Given the description of an element on the screen output the (x, y) to click on. 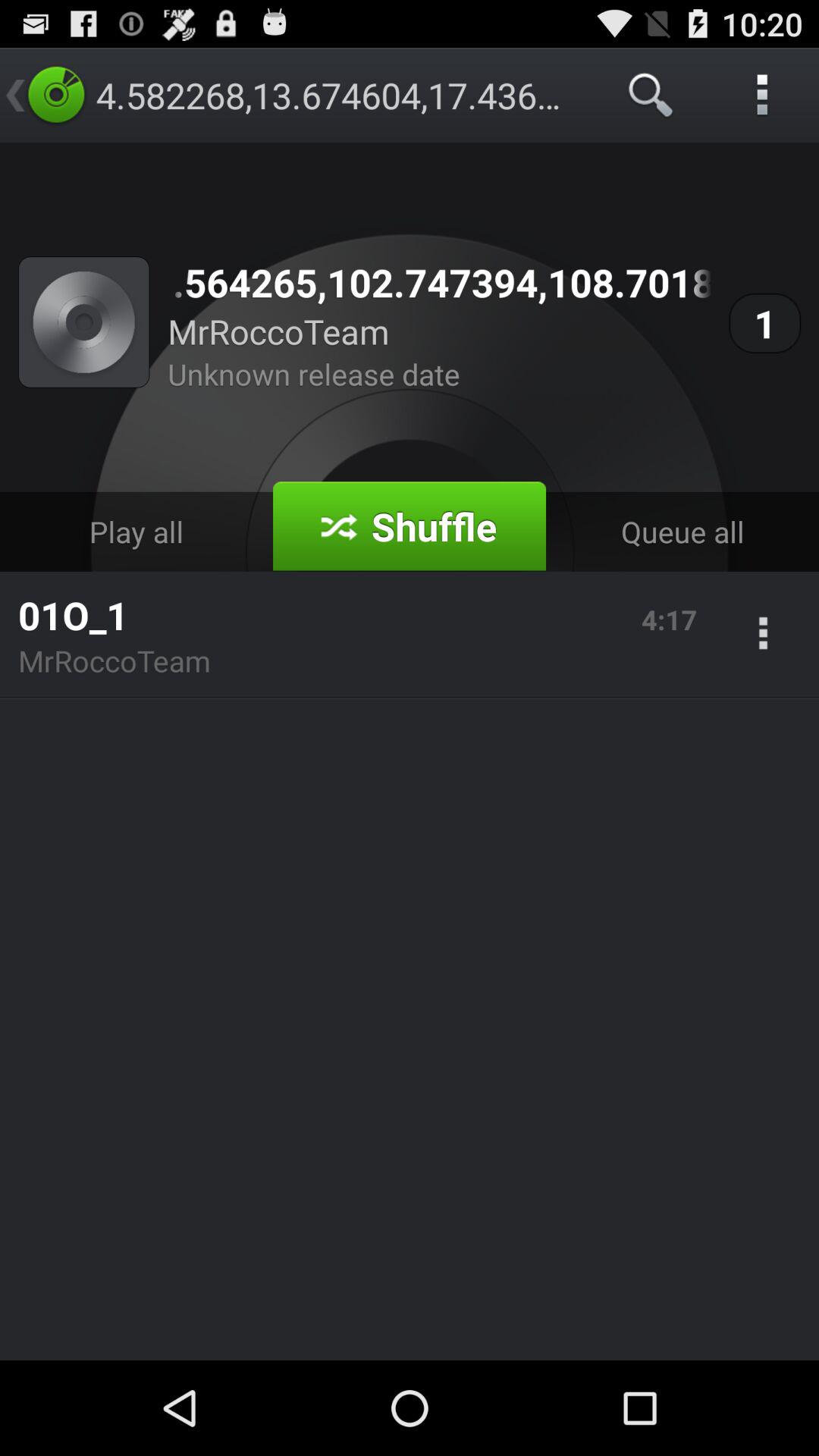
click play all on the left (136, 531)
